Given the description of an element on the screen output the (x, y) to click on. 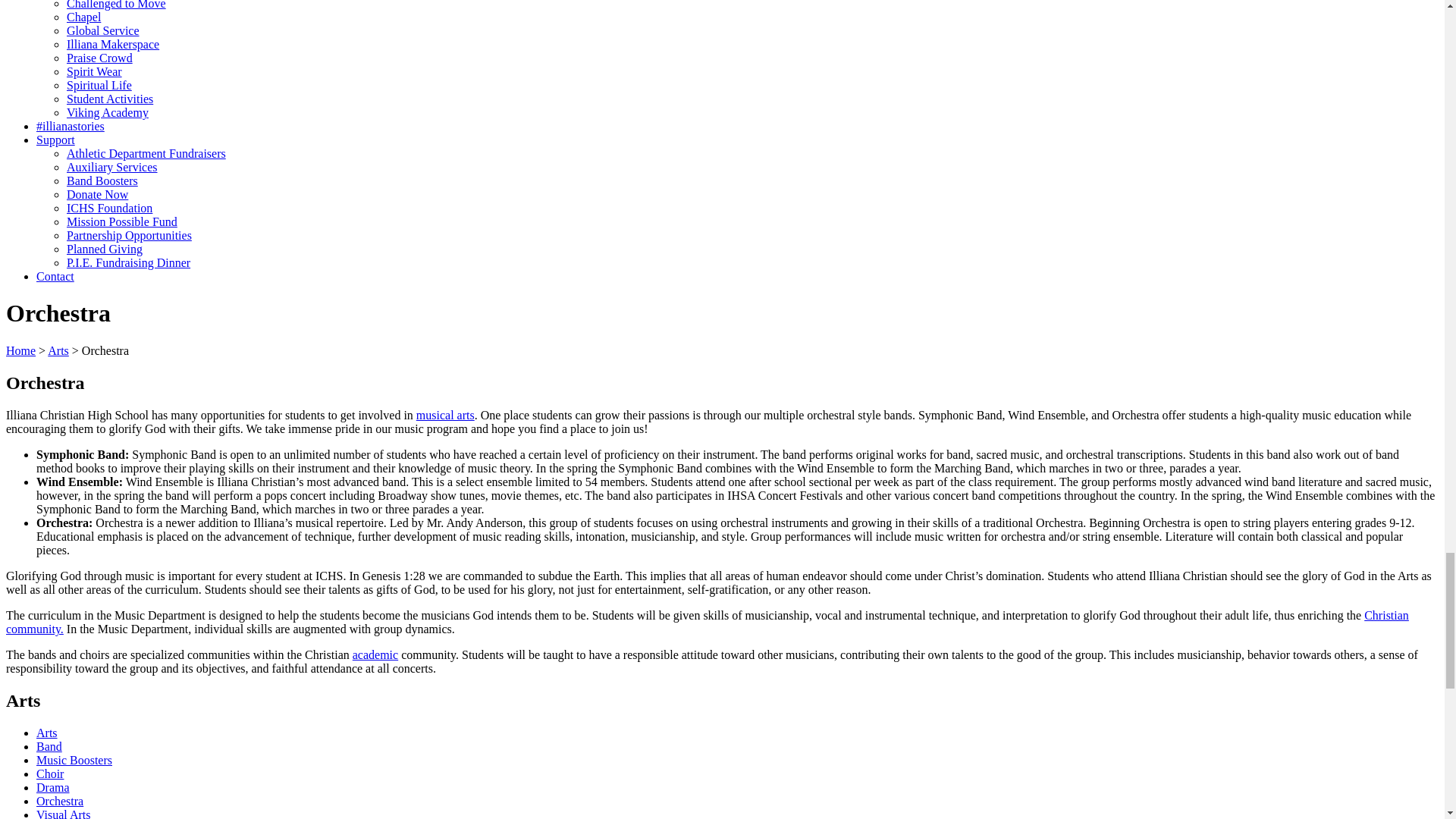
Go to Arts. (58, 350)
Go to Illiana Christian. (19, 350)
